Given the description of an element on the screen output the (x, y) to click on. 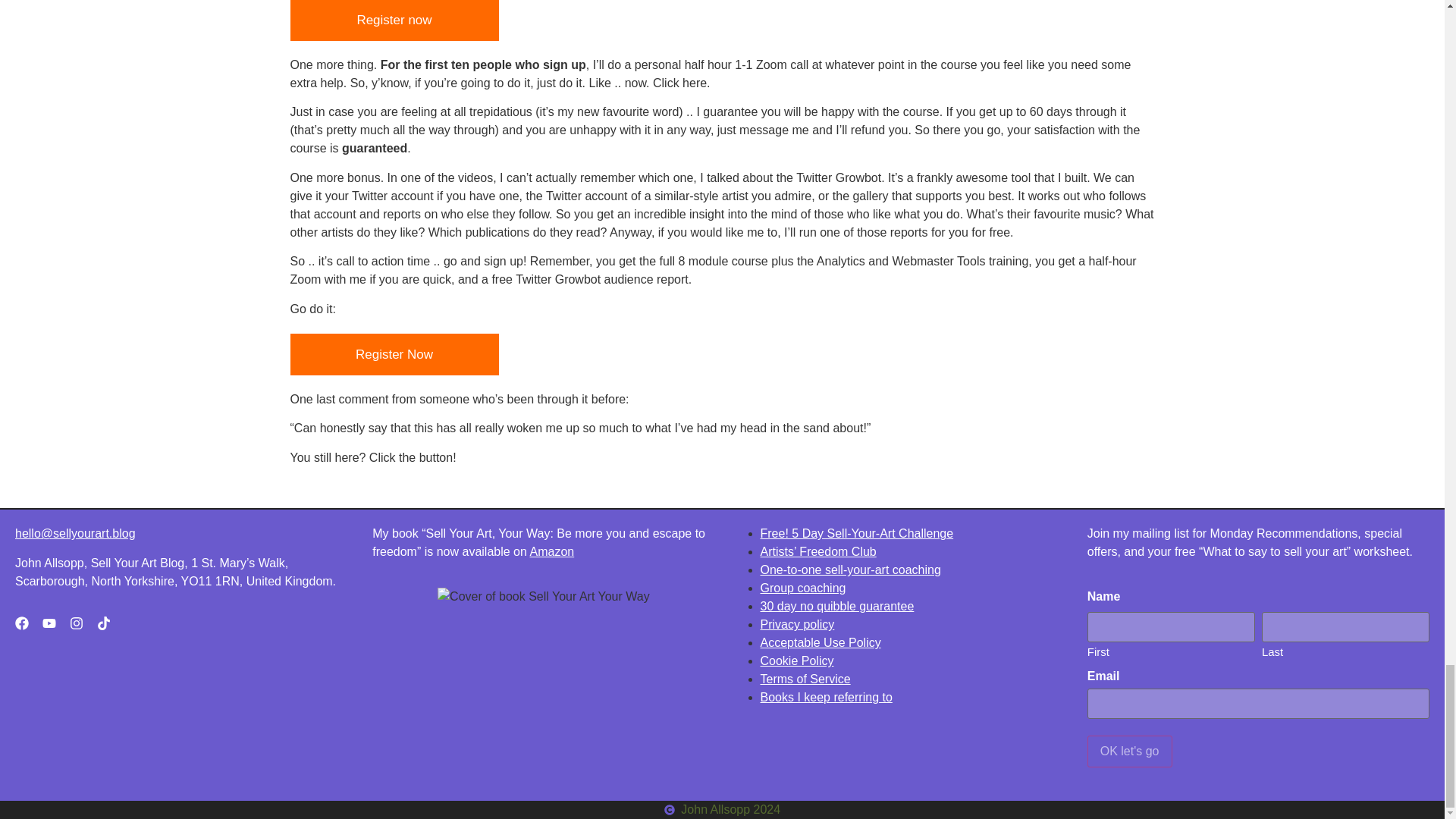
Register Now (393, 354)
Free! 5 Day Sell-Your-Art Challenge (856, 533)
Register now (393, 20)
Books I keep referring to (825, 697)
Group coaching (802, 587)
Cover of book Sell Your Art Your Way (543, 597)
One-to-one sell-your-art coaching (850, 569)
Acceptable Use Policy (820, 642)
Terms of Service (805, 678)
30 day no quibble guarantee (837, 605)
OK let's go (1129, 751)
Privacy policy (797, 624)
Cookie Policy (796, 660)
Amazon (551, 551)
